Given the description of an element on the screen output the (x, y) to click on. 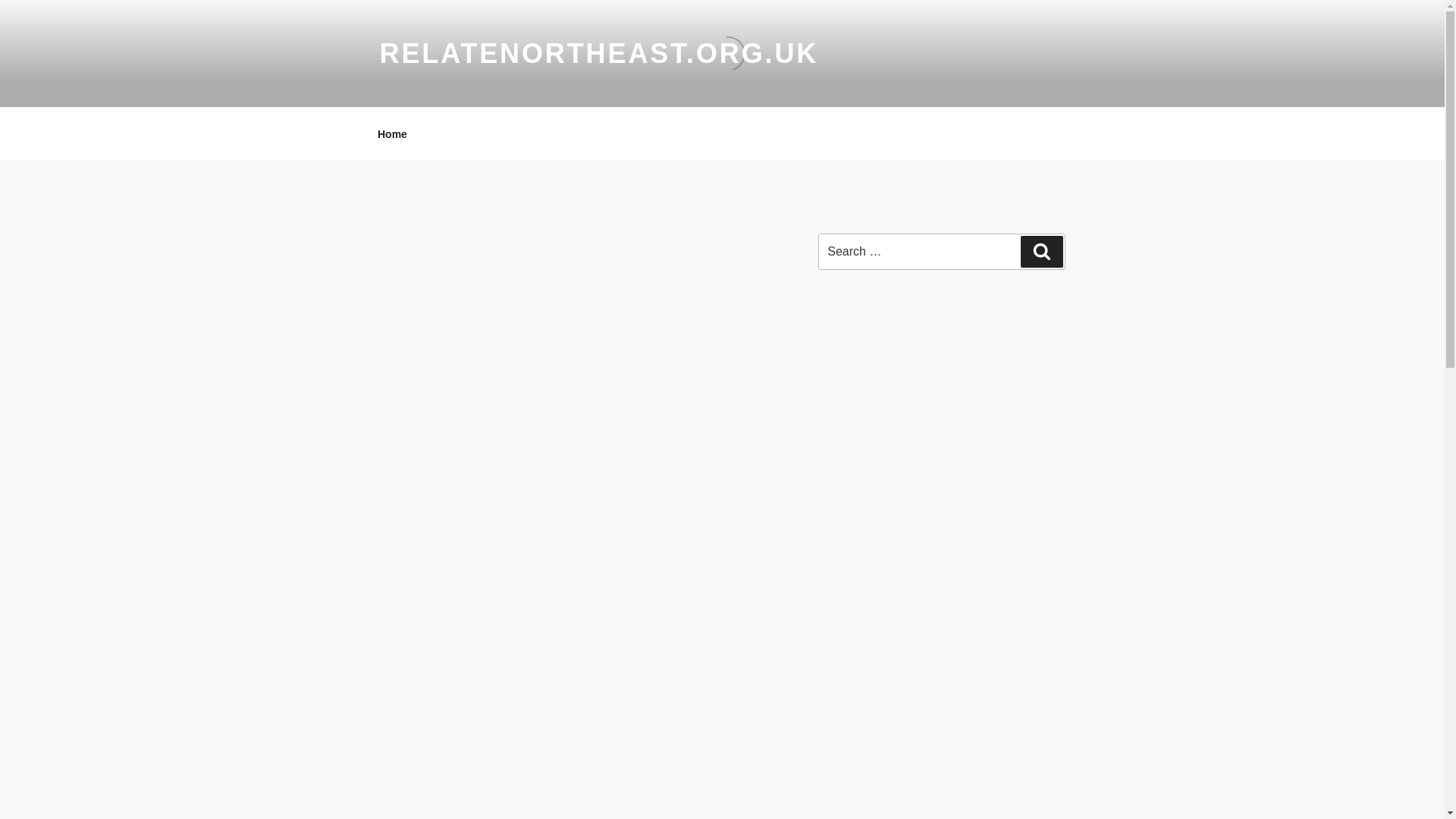
September 2023 (857, 717)
June 2023 (842, 802)
Mistakes to Avoid When Running a Sportsbook (928, 458)
ADMINRELATE (547, 234)
What Is a Casino Online? (878, 401)
Learn the Basics of Poker (878, 429)
RELATENORTHEAST.ORG.UK (598, 52)
December 2023 (855, 632)
March 2024 (846, 547)
Search (1041, 251)
